Given the description of an element on the screen output the (x, y) to click on. 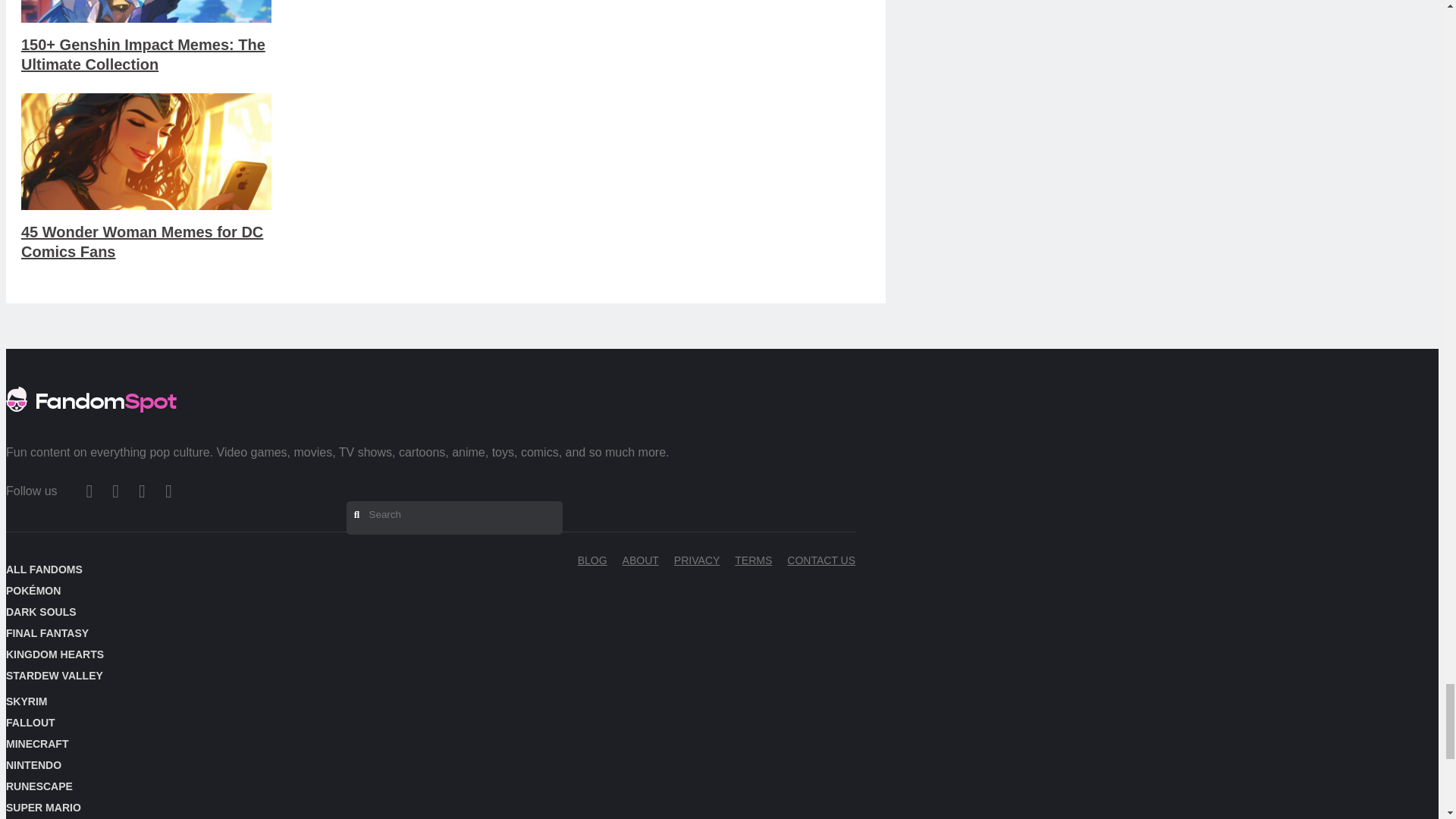
FandomSpot (90, 417)
